Given the description of an element on the screen output the (x, y) to click on. 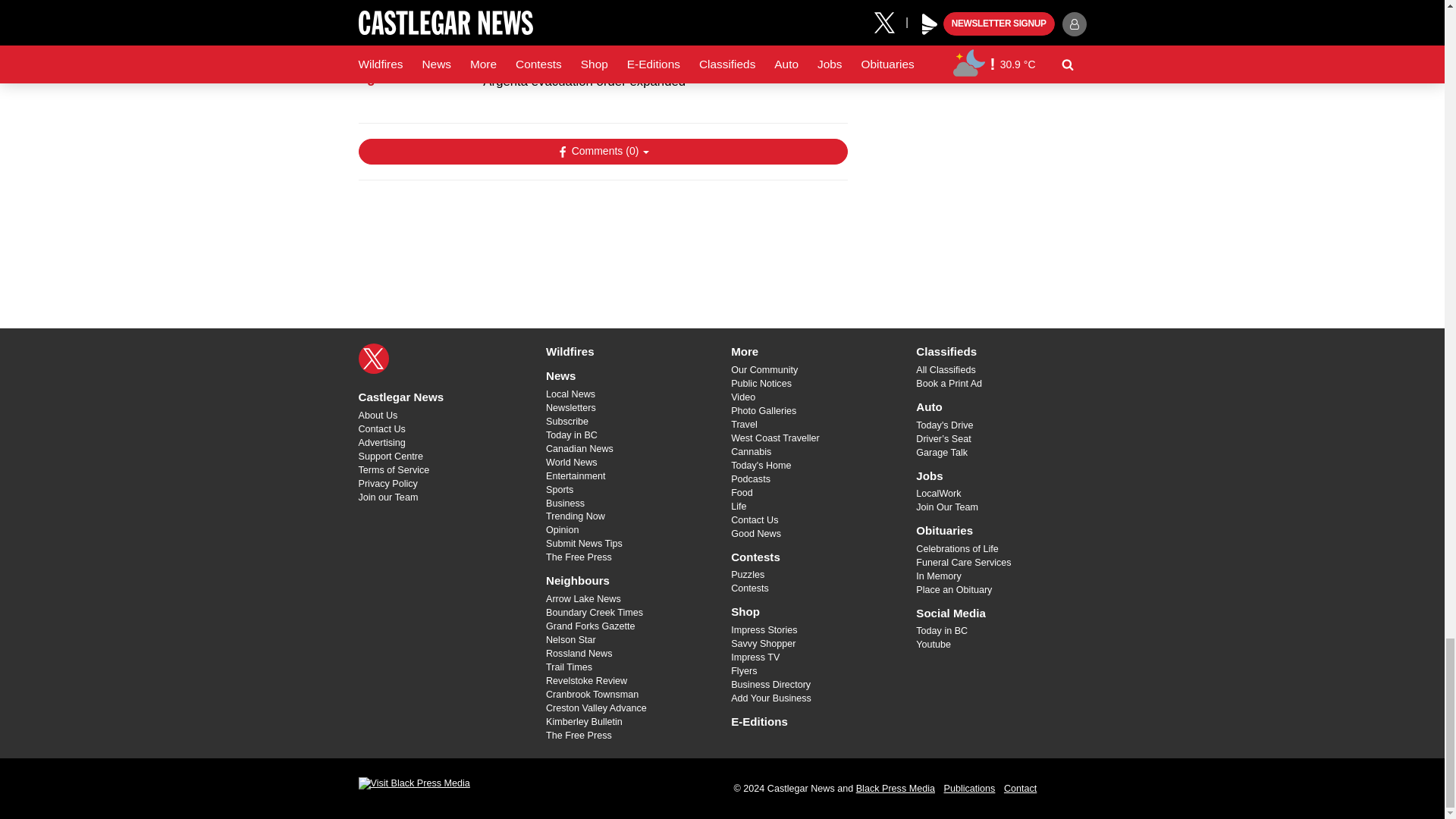
X (373, 358)
Show Comments (602, 151)
